Given the description of an element on the screen output the (x, y) to click on. 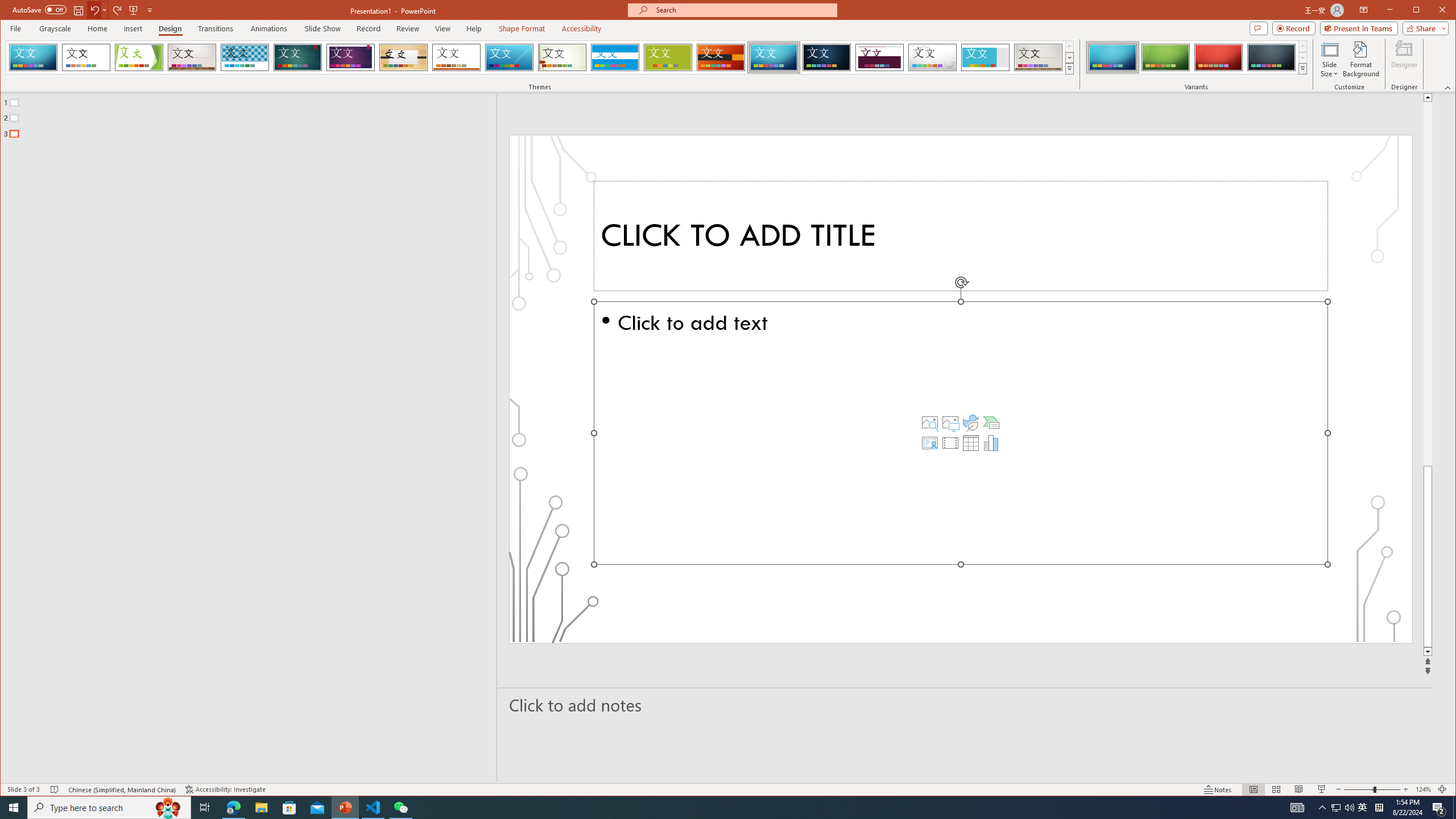
Facet (138, 57)
Circuit Variant 1 (1112, 57)
Ion (297, 57)
Dividend (879, 57)
Ion Boardroom (350, 57)
Gallery (1037, 57)
